Given the description of an element on the screen output the (x, y) to click on. 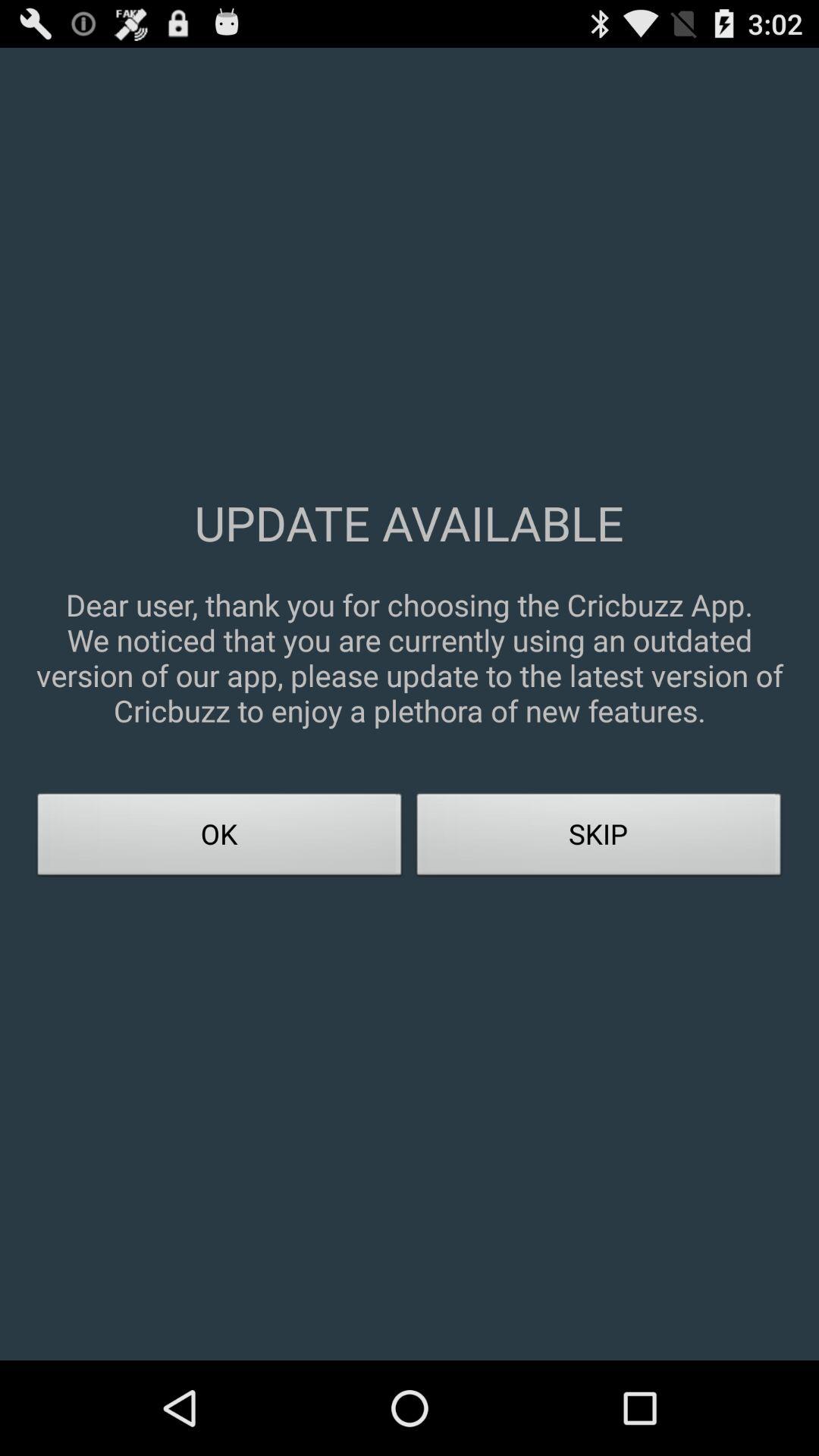
click button on the left (219, 838)
